Given the description of an element on the screen output the (x, y) to click on. 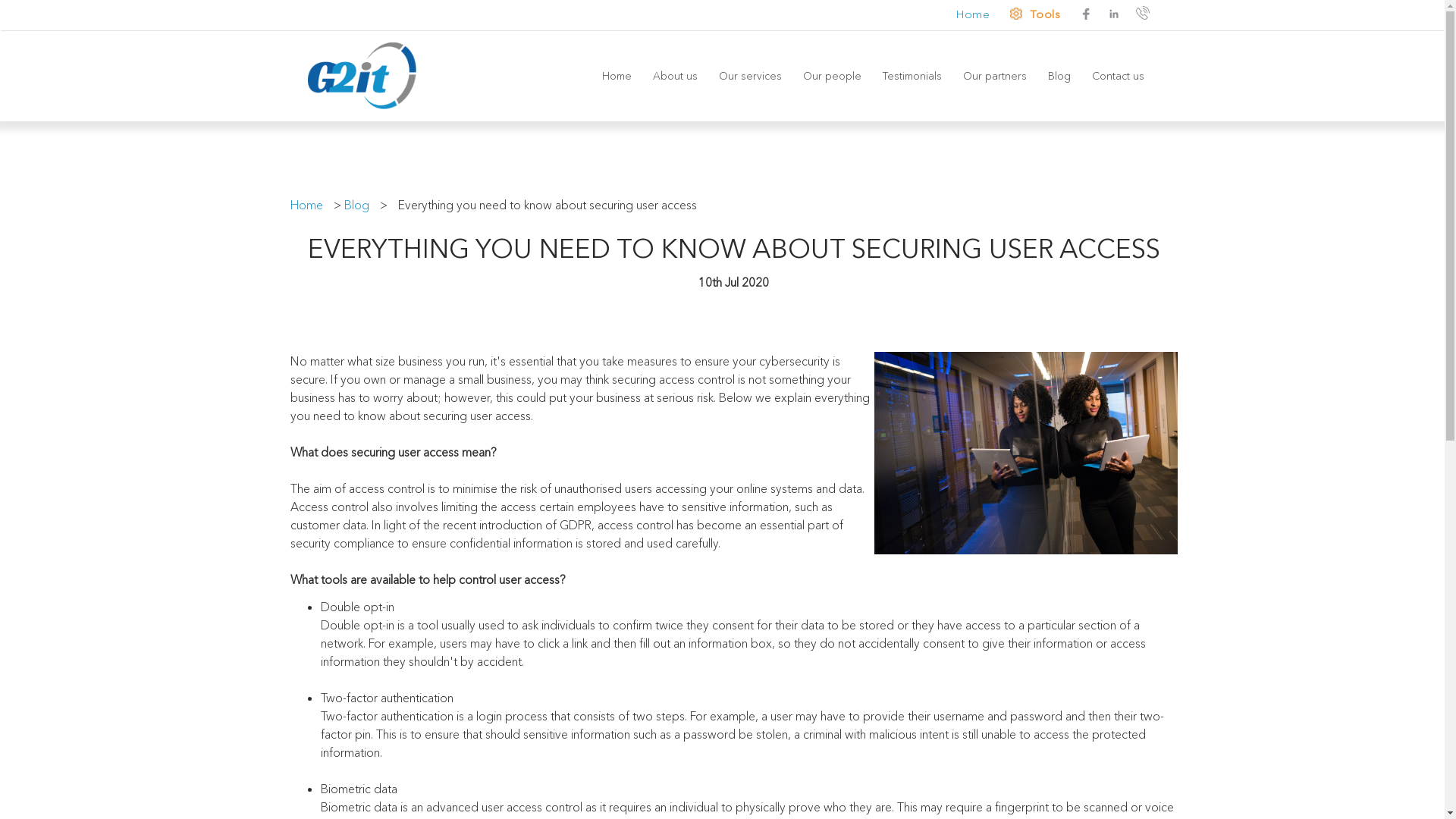
Blog Element type: text (1059, 75)
Blog Element type: text (360, 204)
Contact us Element type: text (1117, 75)
Testimonials Element type: text (912, 75)
Home Element type: text (309, 204)
Home Element type: text (967, 14)
About us Element type: text (674, 75)
Tools Element type: text (1037, 14)
Our people Element type: text (831, 75)
Our partners Element type: text (994, 75)
Home Element type: text (616, 75)
Our services Element type: text (750, 75)
